Given the description of an element on the screen output the (x, y) to click on. 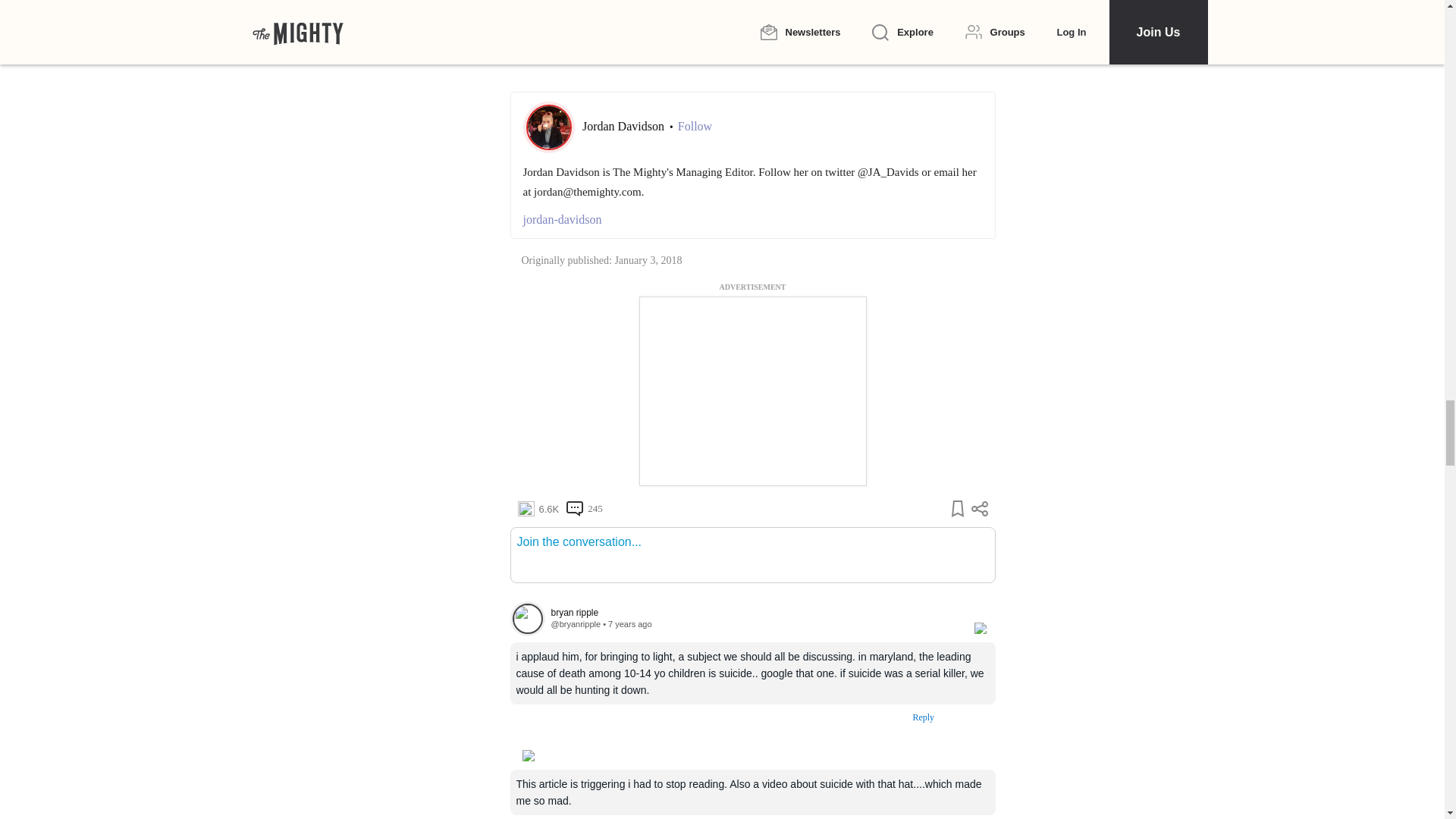
View their profile (574, 623)
View their profile (526, 618)
View their profile (754, 613)
